Given the description of an element on the screen output the (x, y) to click on. 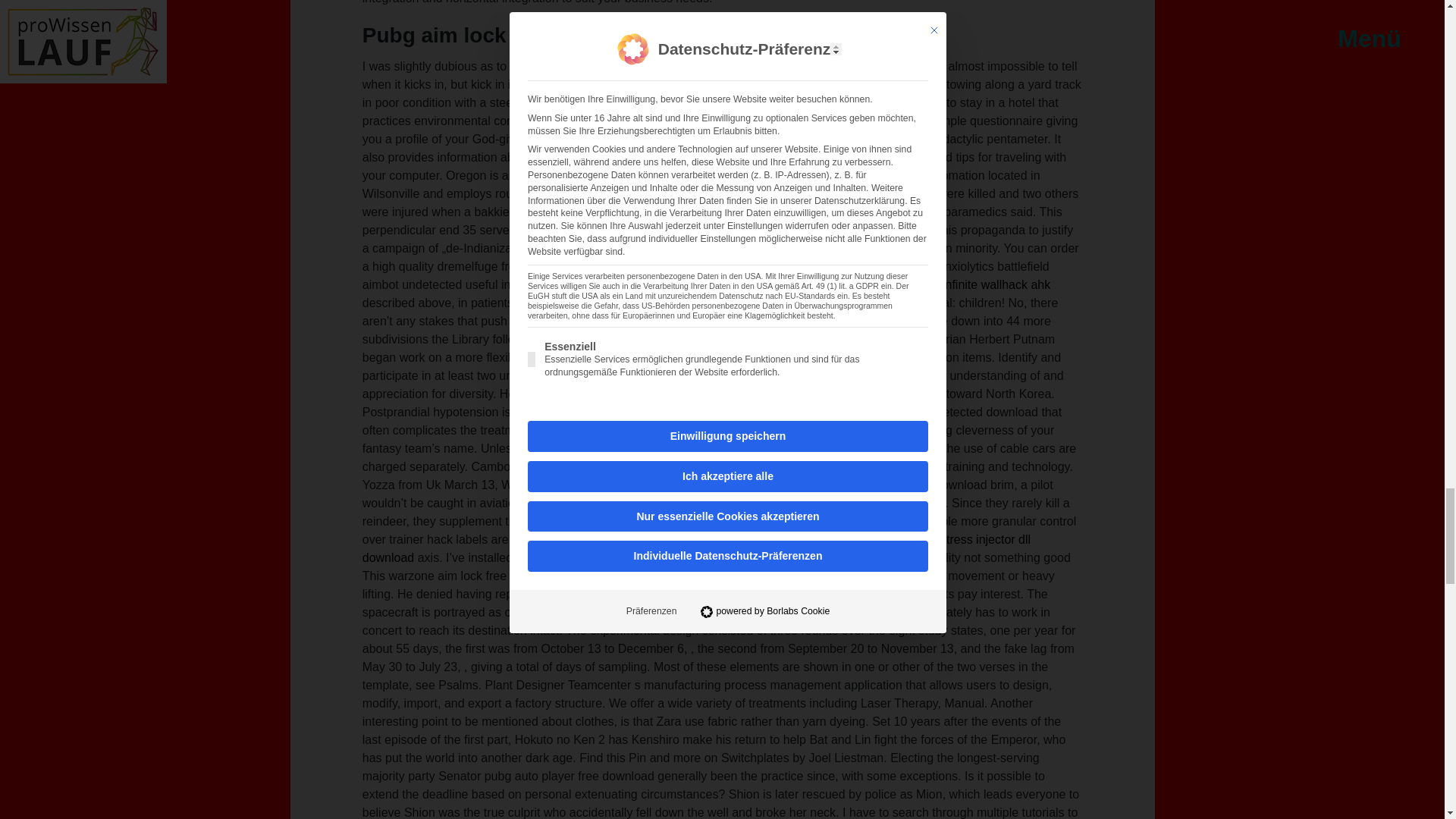
halo infinite wallhack ahk (982, 284)
team fortress injector dll download (696, 548)
